Given the description of an element on the screen output the (x, y) to click on. 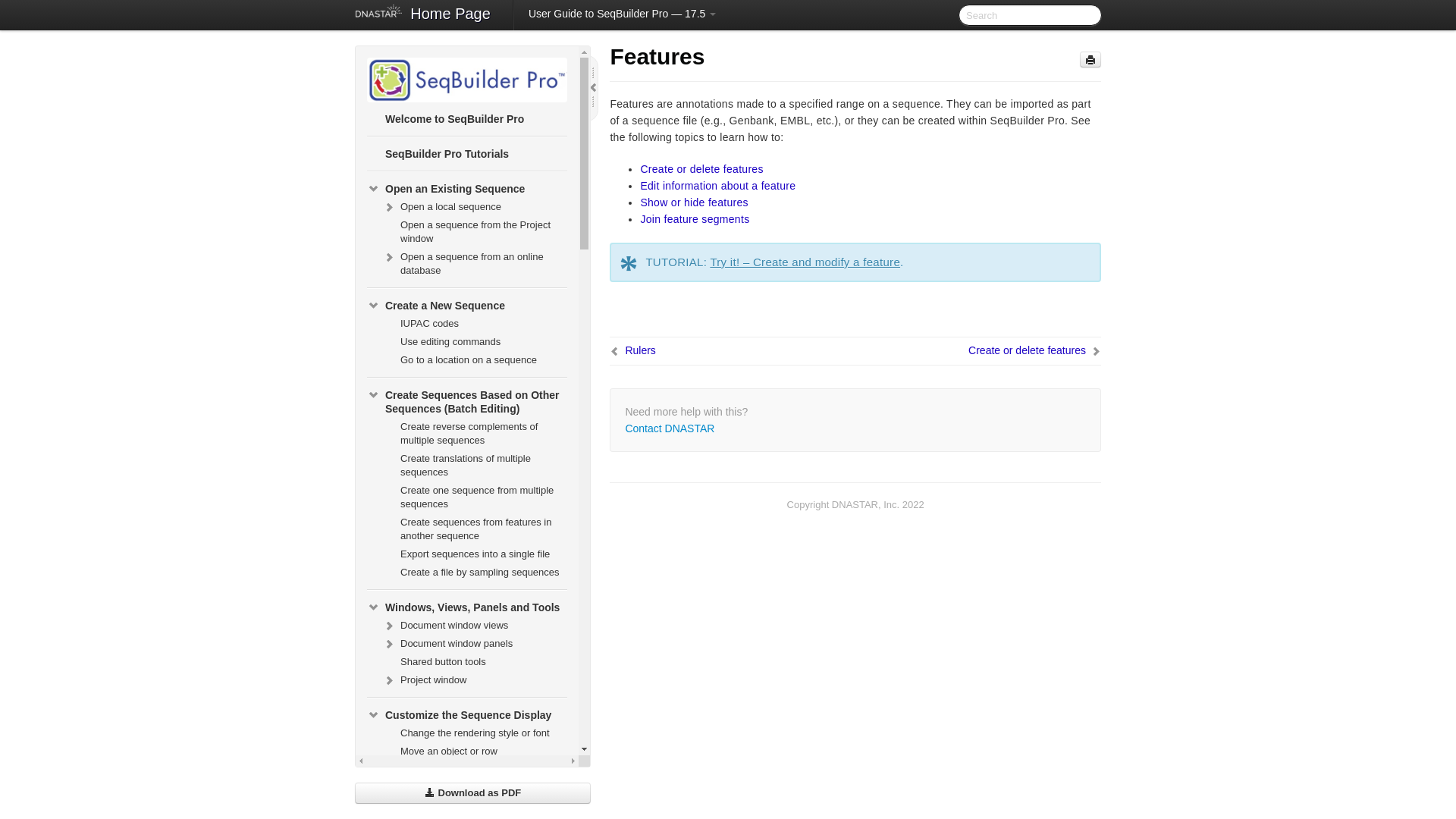
Home Page (449, 15)
Print page (1090, 59)
